Given the description of an element on the screen output the (x, y) to click on. 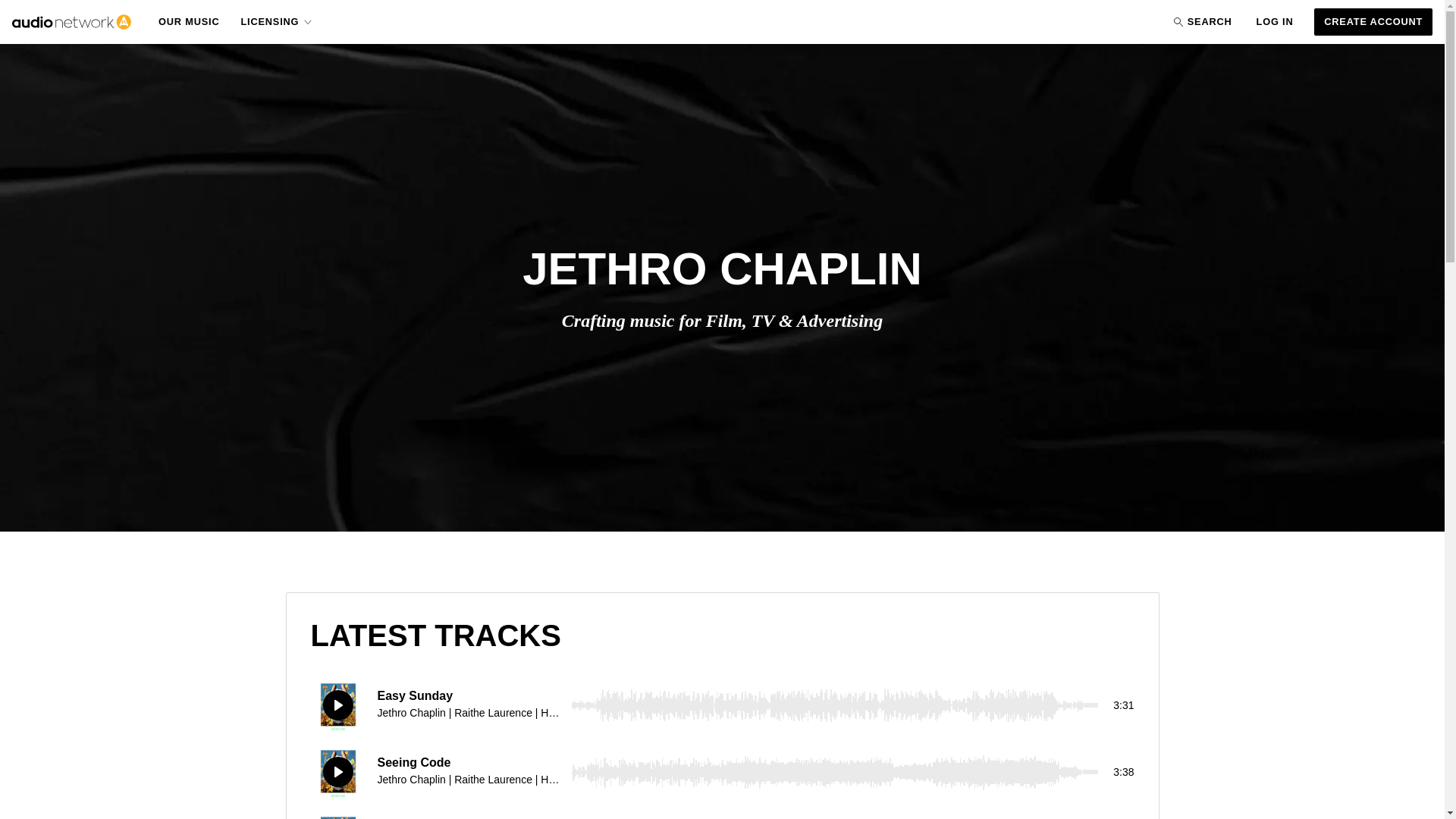
LICENSING (277, 21)
110 (834, 815)
SEARCH (1200, 22)
LOG IN (1275, 22)
OUR MUSIC (188, 22)
106 (834, 705)
109 (834, 771)
CREATE ACCOUNT (1373, 21)
